Given the description of an element on the screen output the (x, y) to click on. 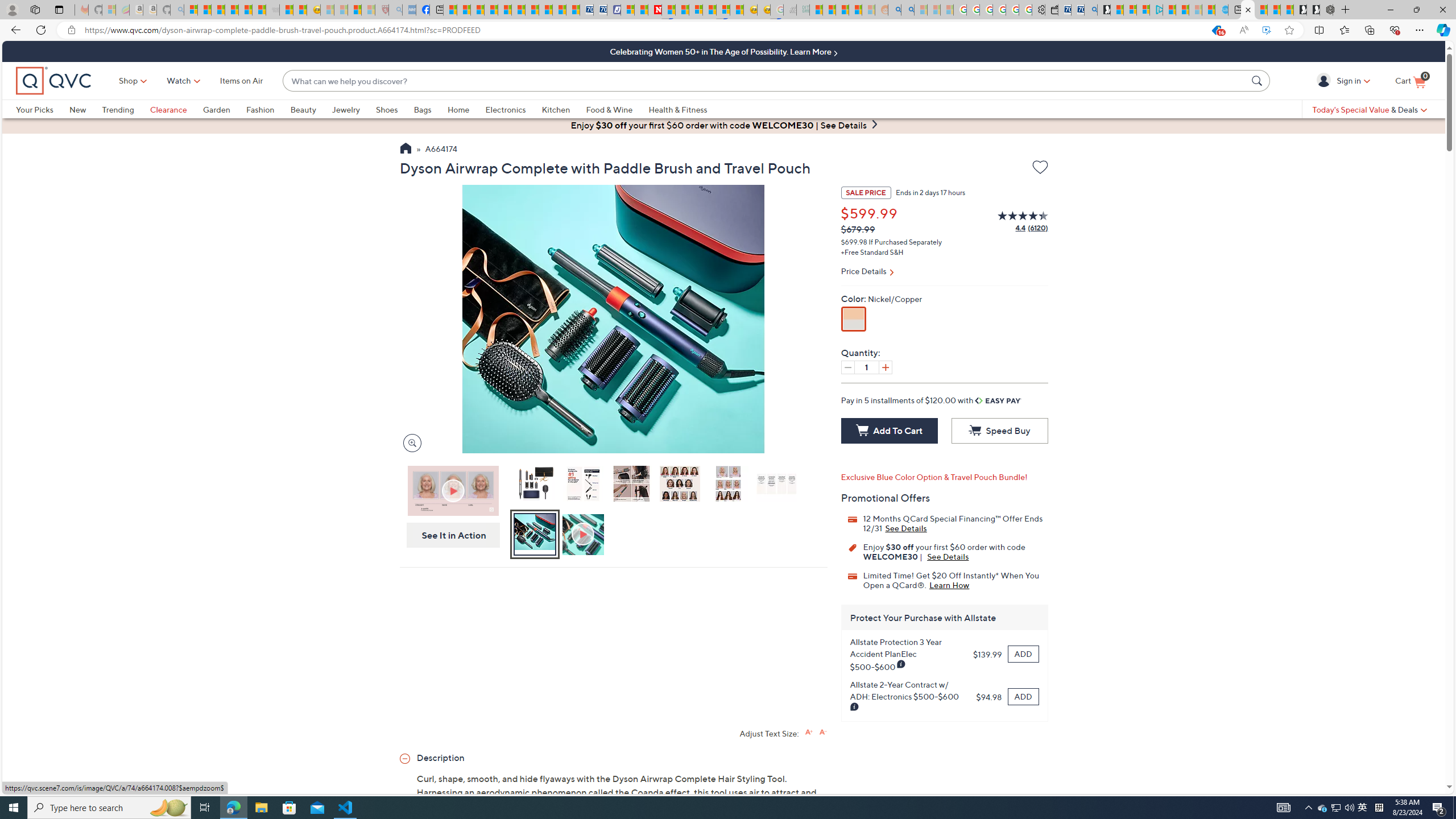
See Details (948, 556)
Climate Damage Becomes Too Severe To Reverse (490, 9)
Your Picks (34, 109)
Decrease quantity by 1 (847, 367)
Food & Wine (609, 109)
Dyson Airwrap Complete with Paddle Brush and Travel Pouch (534, 485)
Wallet (1050, 9)
Dyson Airwrap Complete with Paddle Brush and Travel Pouch (533, 483)
Trending (117, 109)
Price Details (944, 272)
